Given the description of an element on the screen output the (x, y) to click on. 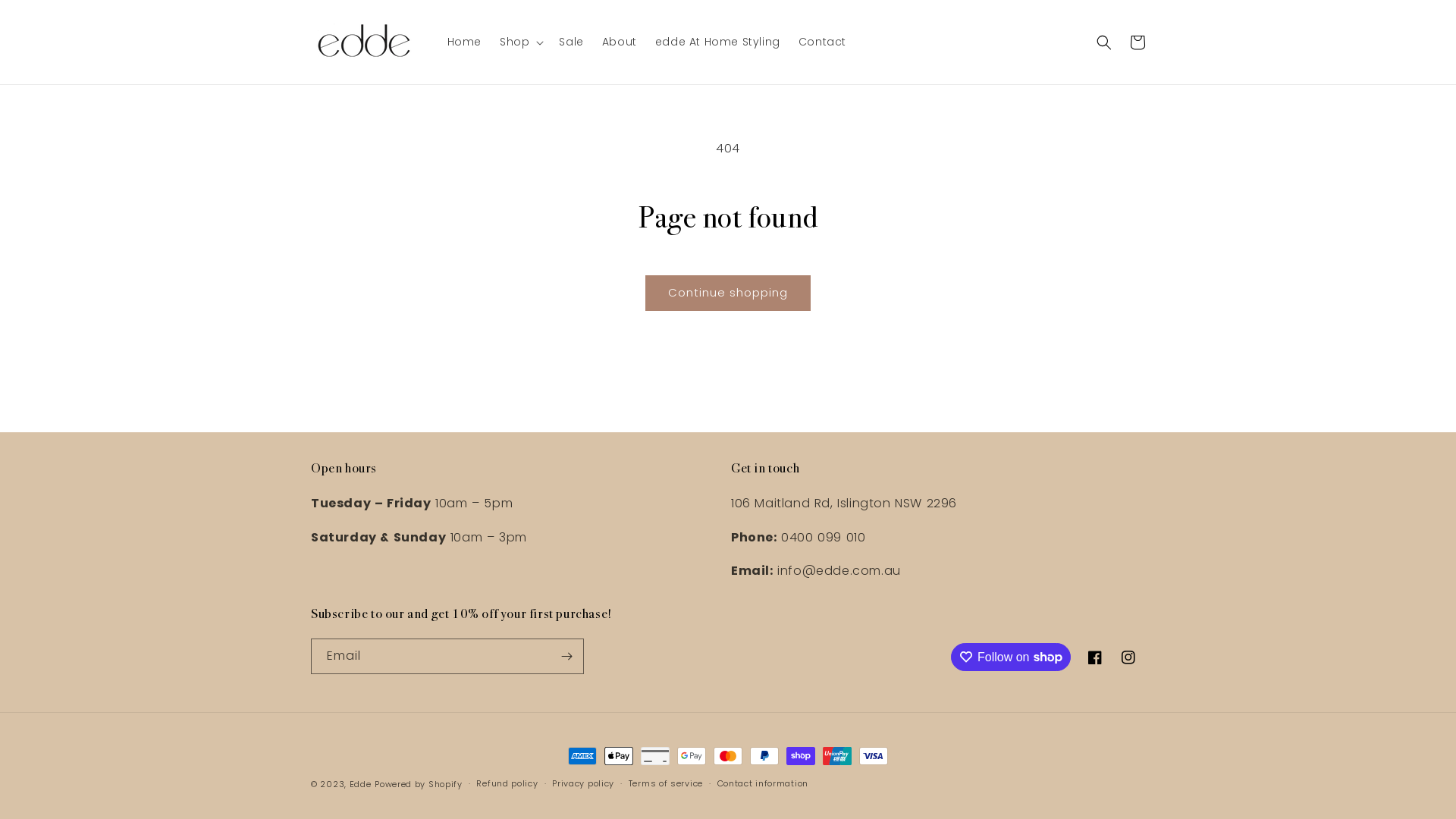
Contact information Element type: text (762, 783)
Privacy policy Element type: text (583, 783)
Edde Element type: text (360, 784)
Powered by Shopify Element type: text (418, 784)
Continue shopping Element type: text (727, 292)
Contact Element type: text (822, 41)
edde At Home Styling Element type: text (717, 41)
Instagram Element type: text (1128, 657)
Terms of service Element type: text (665, 783)
Refund policy Element type: text (506, 783)
Home Element type: text (464, 41)
Cart Element type: text (1137, 42)
Facebook Element type: text (1094, 657)
About Element type: text (619, 41)
Sale Element type: text (570, 41)
